Given the description of an element on the screen output the (x, y) to click on. 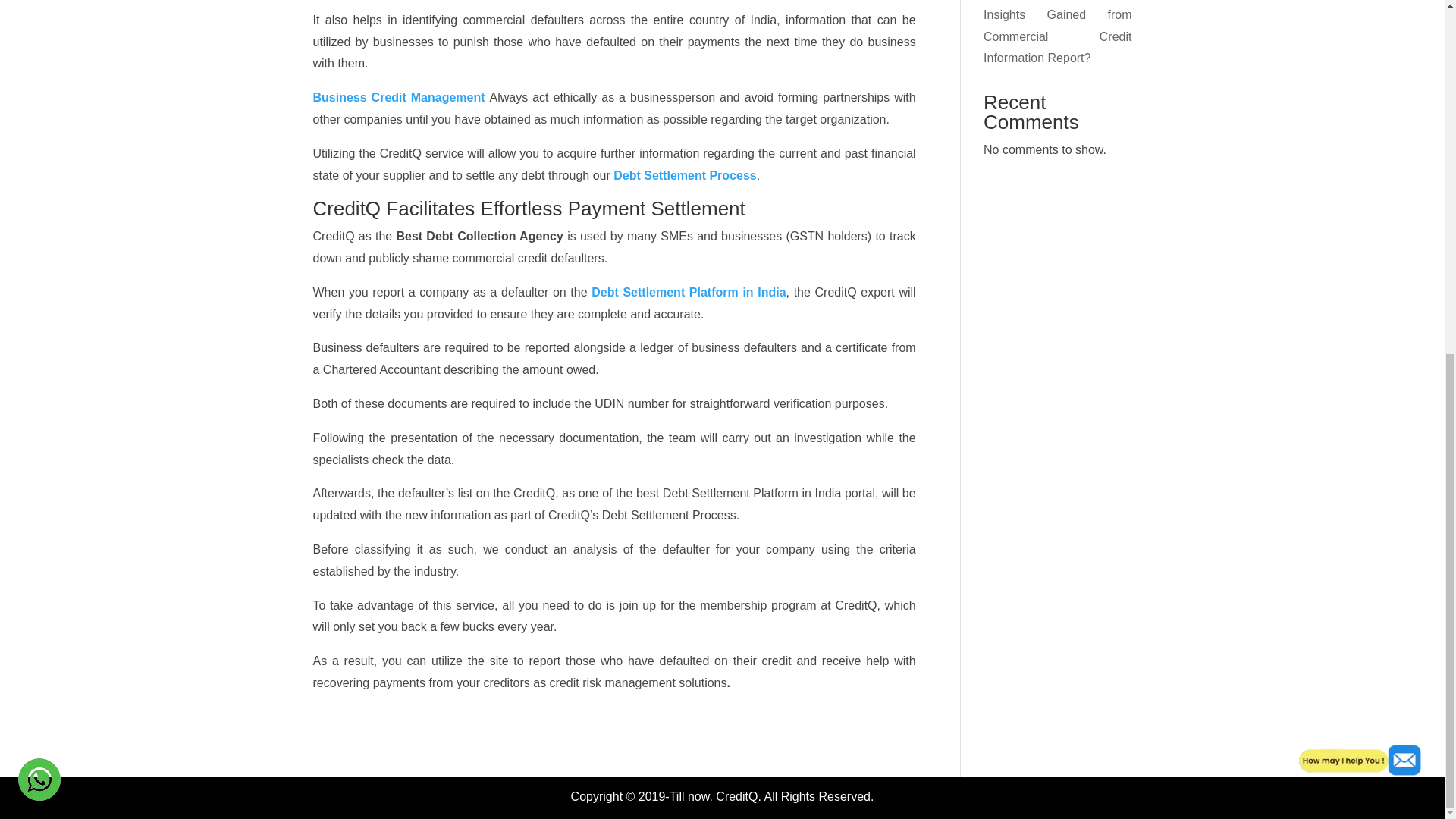
whatsapp-icon (38, 160)
how-may-help-txn-150 (1363, 141)
Business Credit Management (401, 97)
Debt Settlement Process (684, 174)
